Given the description of an element on the screen output the (x, y) to click on. 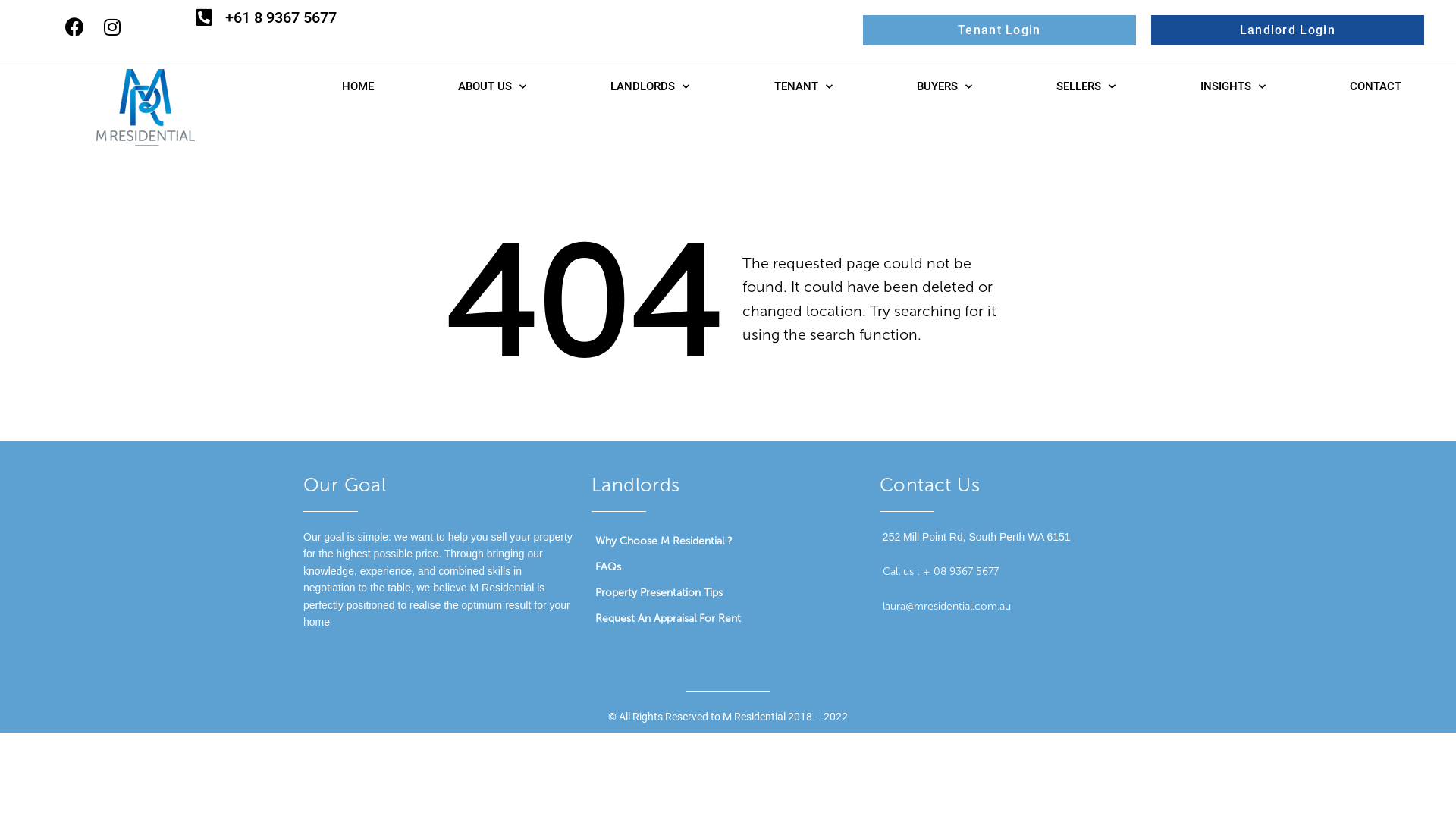
Call us : + 08 9367 5677 Element type: text (940, 570)
CONTACT Element type: text (1375, 86)
Why Choose M Residential ? Element type: text (727, 541)
INSIGHTS Element type: text (1232, 86)
BUYERS Element type: text (943, 86)
Tenant Login Element type: text (998, 30)
SELLERS Element type: text (1085, 86)
TENANT Element type: text (802, 86)
FAQs Element type: text (727, 567)
ABOUT US Element type: text (491, 86)
Landlord Login Element type: text (1287, 30)
laura@mresidential.com.au Element type: text (946, 605)
LANDLORDS Element type: text (649, 86)
Property Presentation Tips Element type: text (727, 592)
Request An Appraisal For Rent Element type: text (727, 618)
HOME Element type: text (357, 86)
+61 8 9367 5677 Element type: text (279, 16)
